Given the description of an element on the screen output the (x, y) to click on. 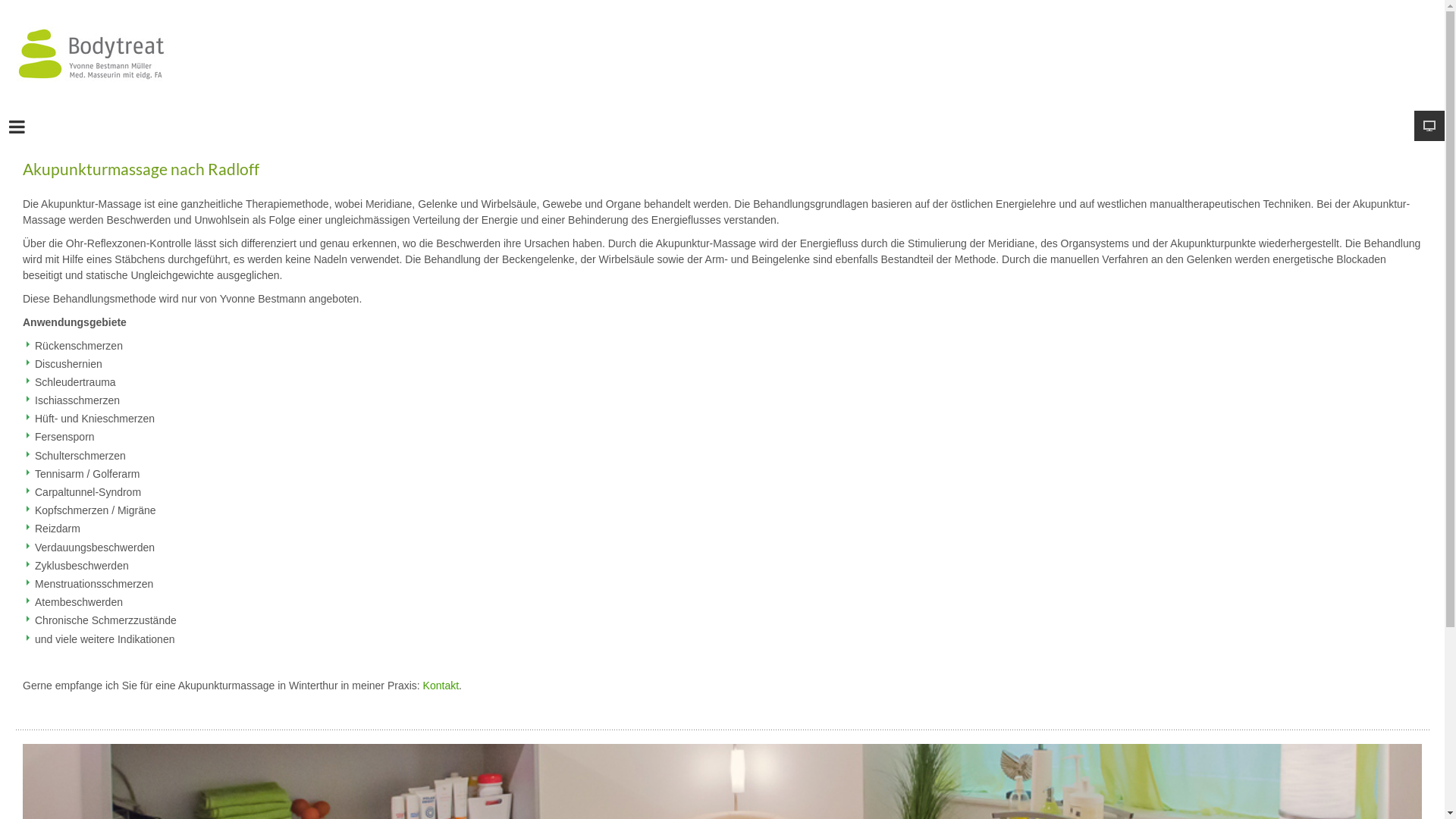
Kontakt Element type: text (440, 685)
